Given the description of an element on the screen output the (x, y) to click on. 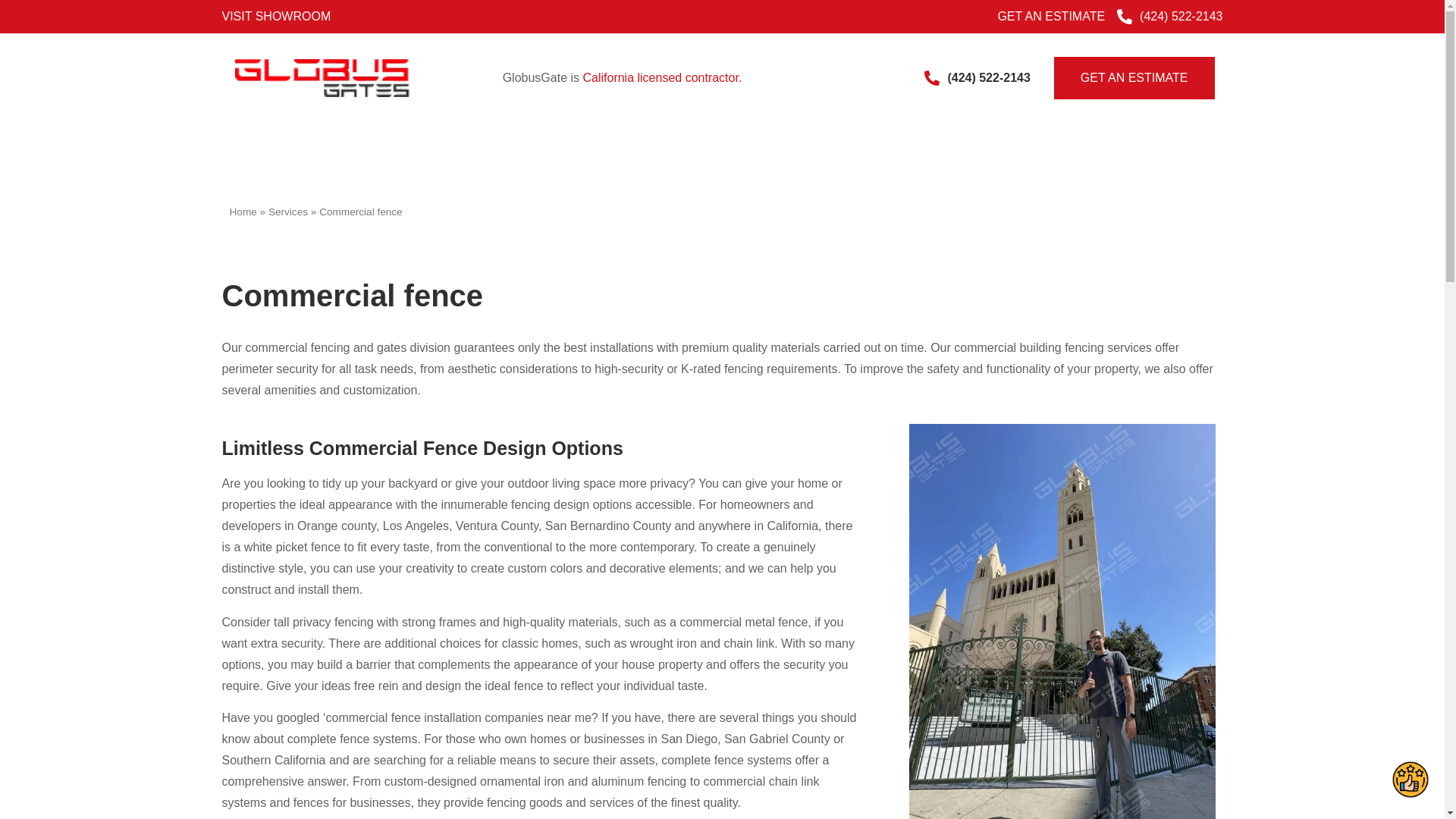
GET AN ESTIMATE (1133, 77)
VISIT SHOWROOM (275, 16)
GET AN ESTIMATE (1051, 16)
